Given the description of an element on the screen output the (x, y) to click on. 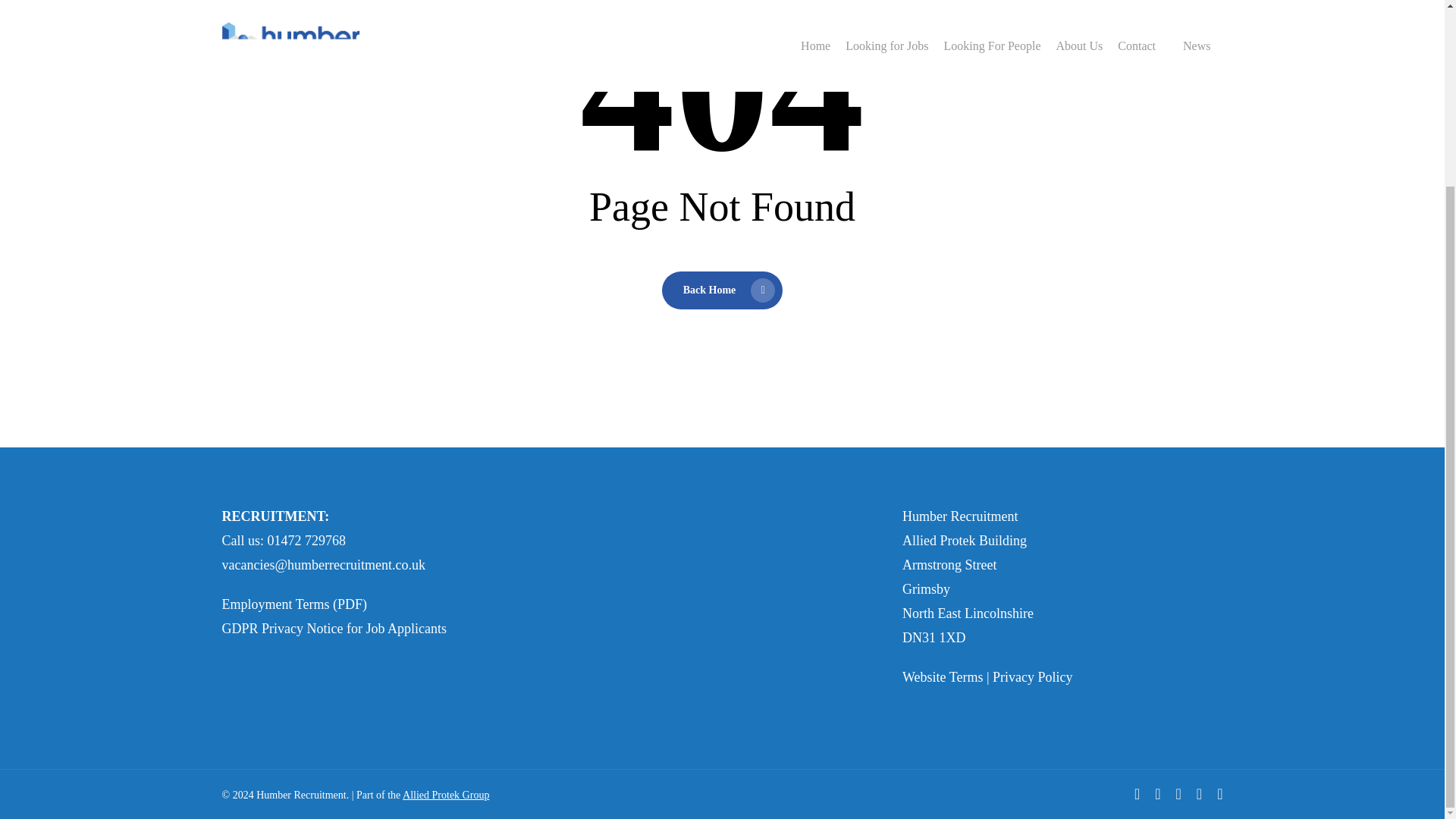
01472 729768 (306, 540)
Back Home (722, 290)
Allied Protek Group (446, 794)
GDPR Privacy Notice for Job Applicants (333, 628)
Privacy Policy (1032, 676)
Website Terms (942, 676)
